Given the description of an element on the screen output the (x, y) to click on. 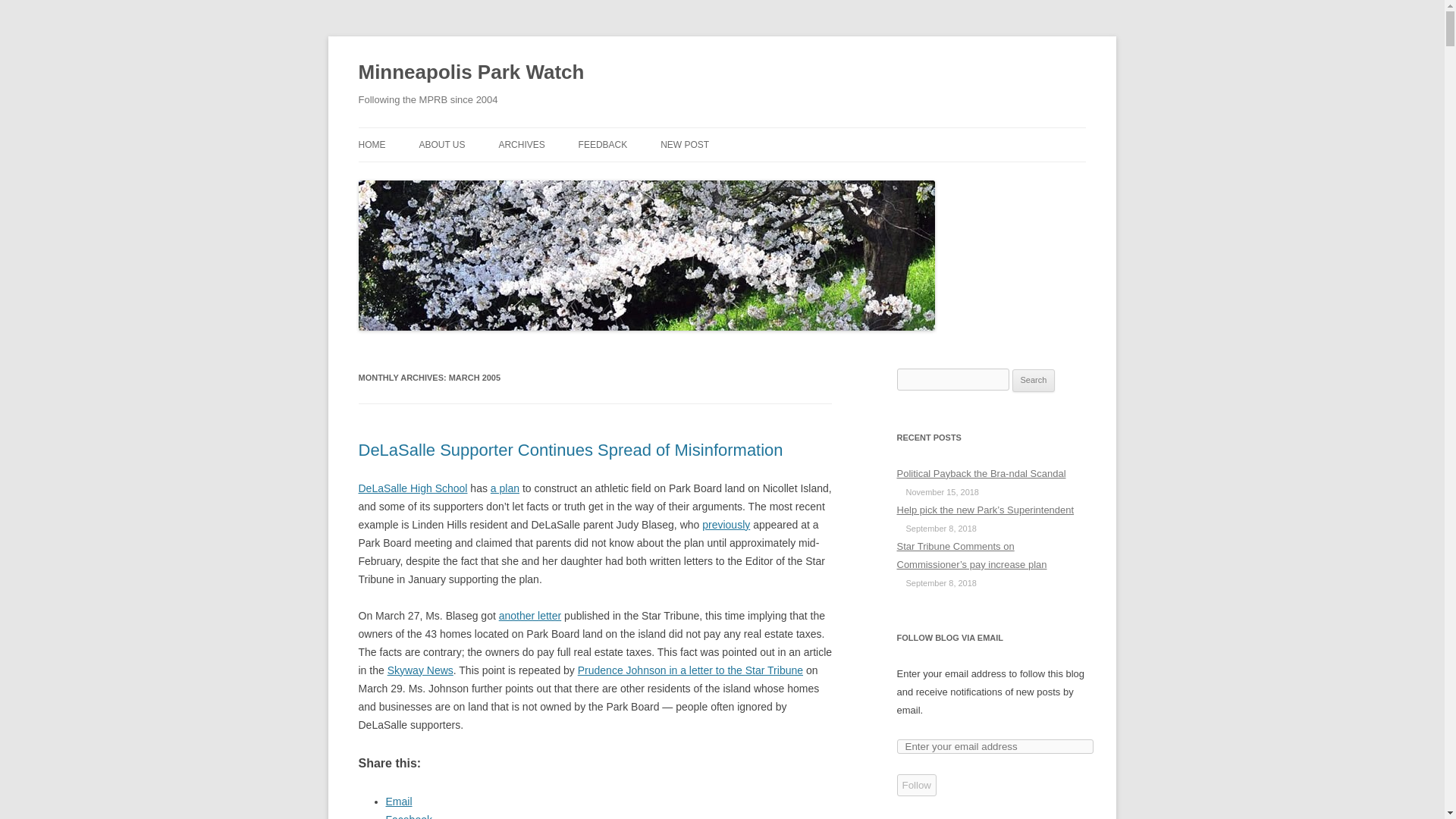
NEW POST (685, 144)
Minneapolis Park Watch (470, 72)
Click to email this to a friend (398, 801)
previously (725, 524)
Minneapolis Park Watch (470, 72)
DeLaSalle High School (412, 488)
another letter (530, 615)
Prudence Johnson in a letter to the Star Tribune (690, 670)
ARCHIVES (520, 144)
Facebook (407, 816)
Email (398, 801)
Search (1033, 380)
